Given the description of an element on the screen output the (x, y) to click on. 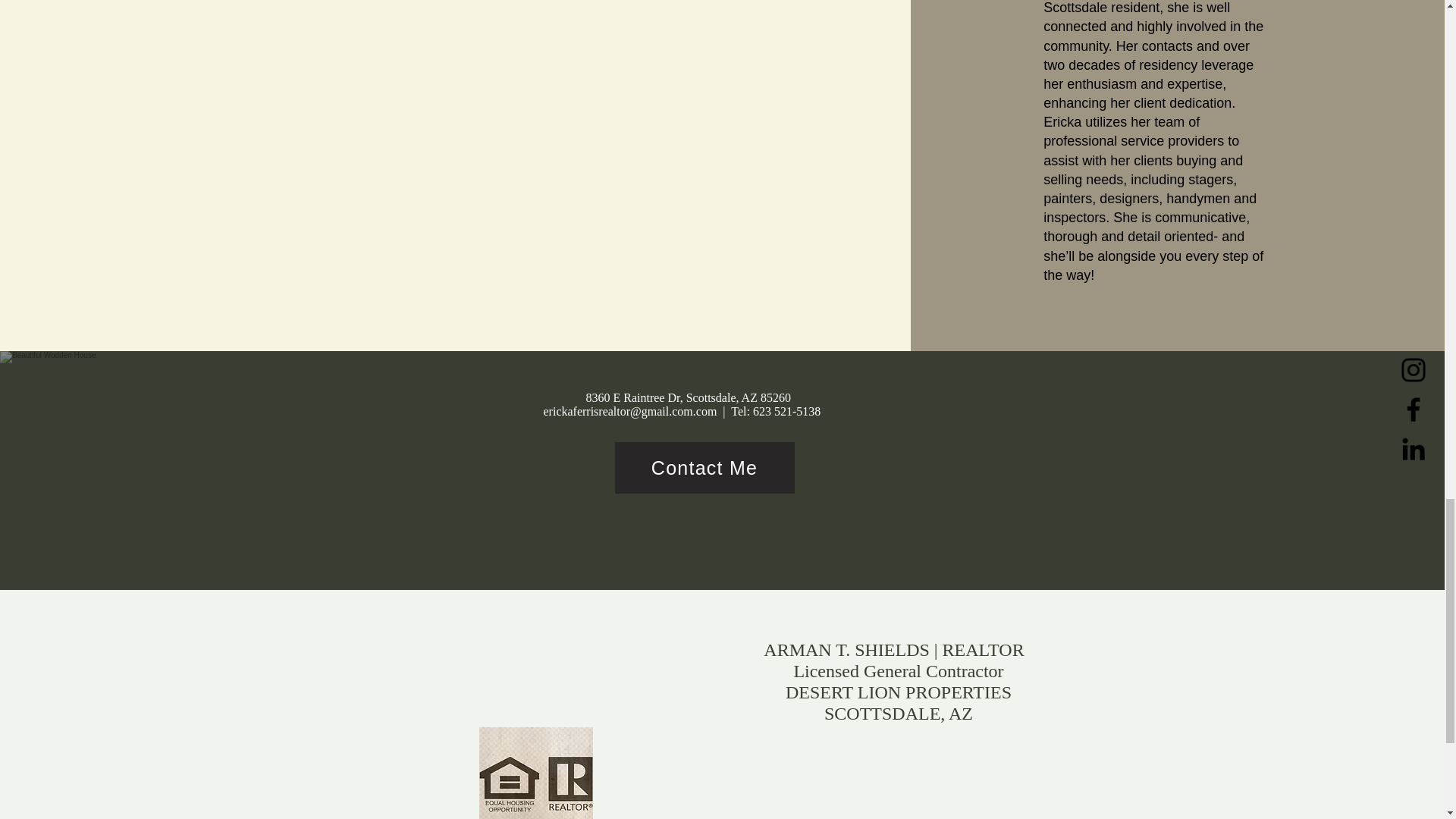
Contact Me (703, 467)
